Given the description of an element on the screen output the (x, y) to click on. 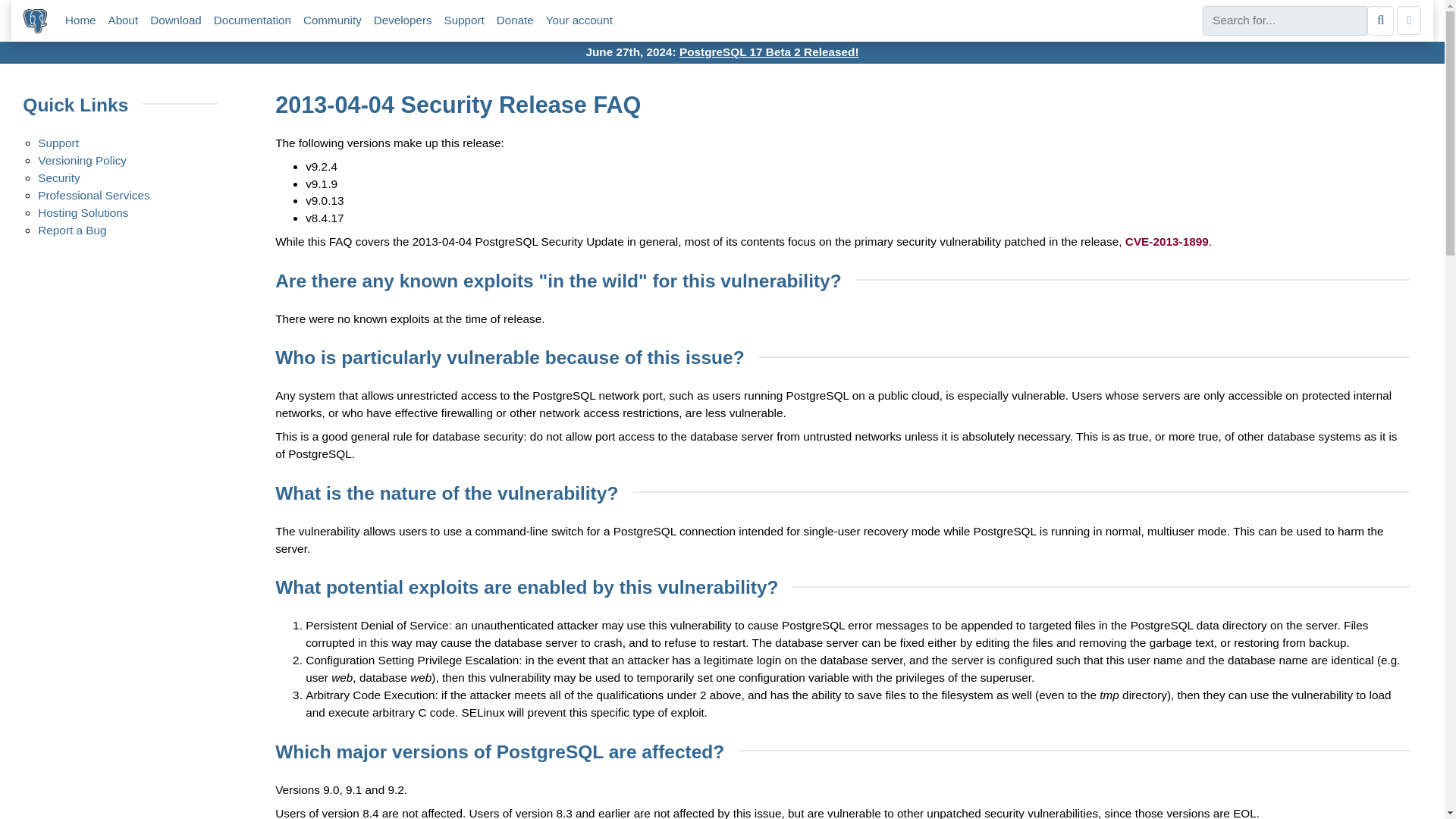
Donate (515, 19)
PostgreSQL 17 Beta 2 Released! (769, 51)
Download (175, 19)
About (122, 19)
CVE-2013-1899 (1166, 241)
Documentation (252, 19)
Report a Bug (71, 229)
Community (331, 19)
Security (58, 177)
Developers (403, 19)
Support (57, 142)
About (122, 19)
Documentation (252, 19)
Versioning Policy (81, 160)
Download (175, 19)
